Given the description of an element on the screen output the (x, y) to click on. 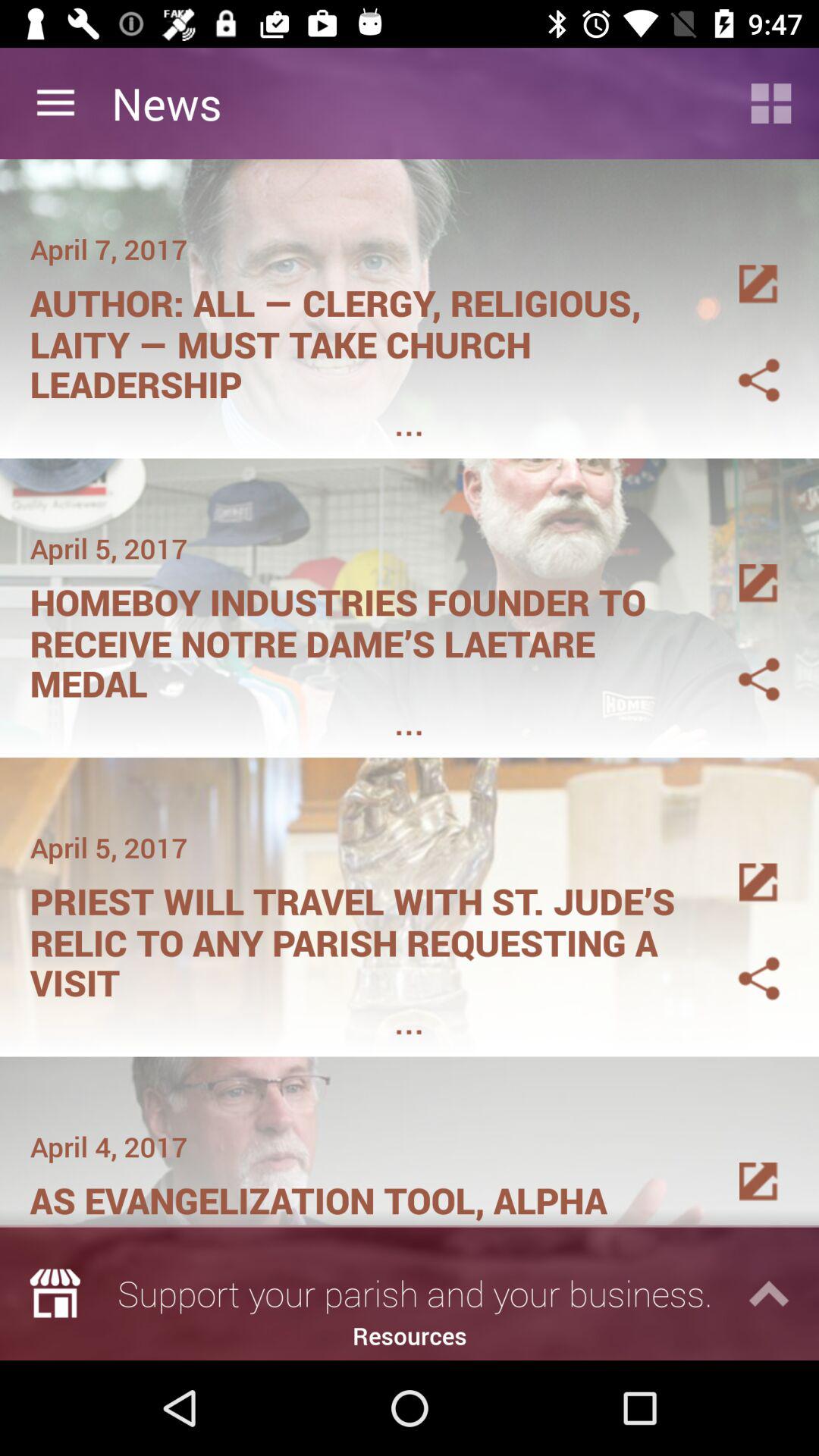
choose the author all clergy icon (361, 338)
